Given the description of an element on the screen output the (x, y) to click on. 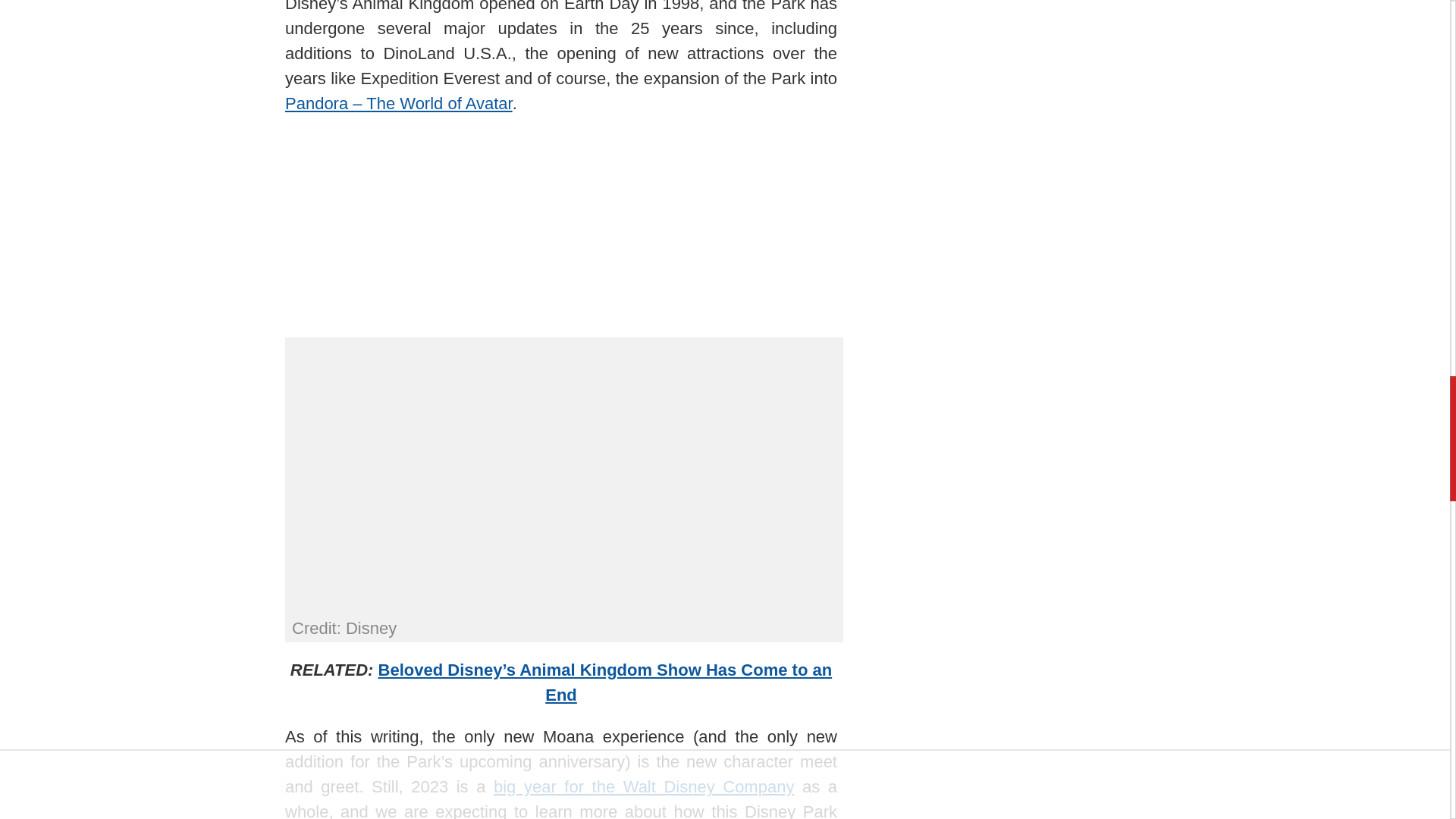
big year for the Walt Disney Company (643, 786)
